Given the description of an element on the screen output the (x, y) to click on. 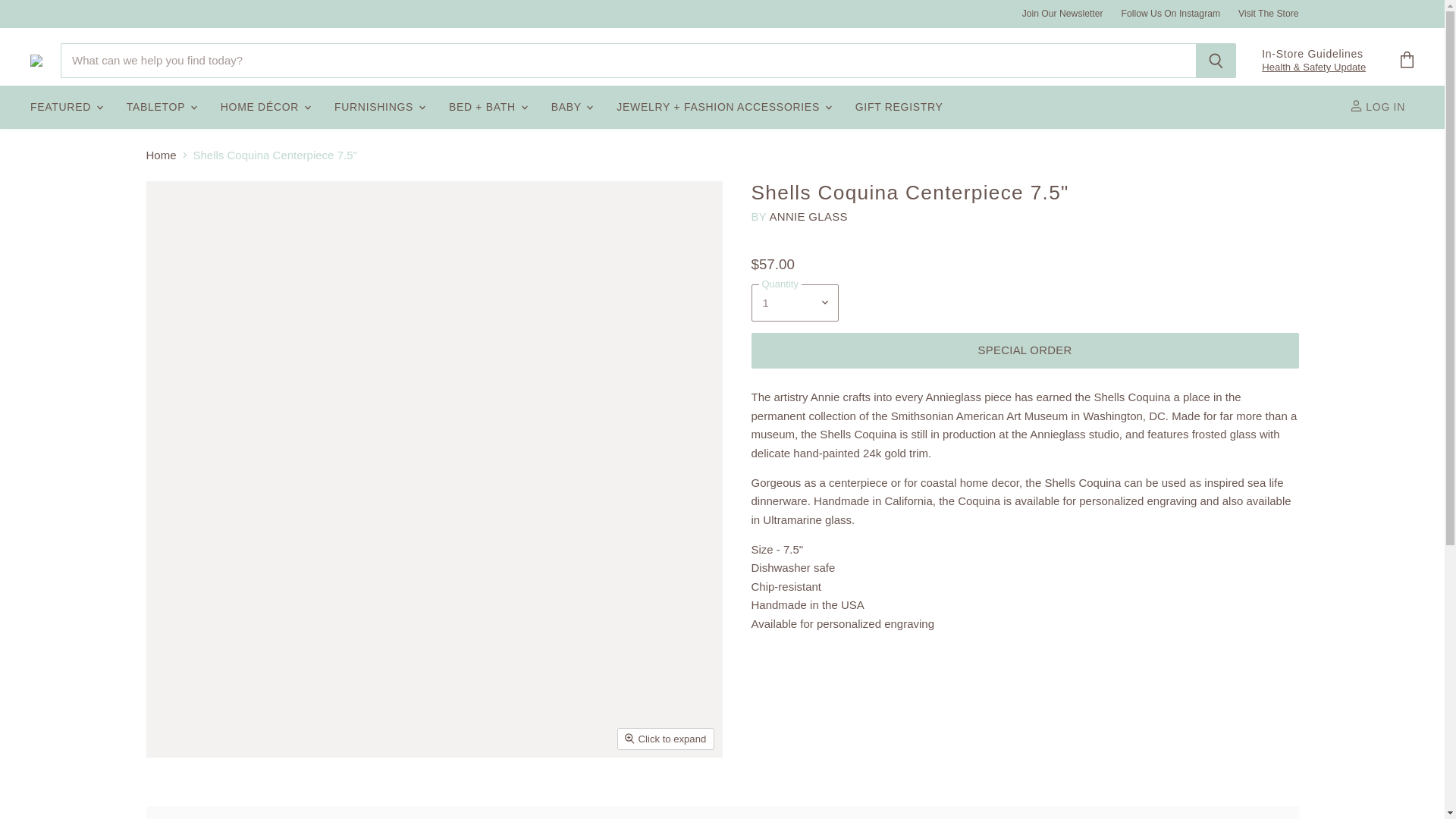
Annie Glass (807, 215)
Visit The Store (1268, 13)
Join Our Newsletter (1062, 13)
TABLETOP (160, 106)
Follow Us On Instagram (1171, 13)
FEATURED (65, 106)
ACCOUNT ICON (1355, 105)
